Given the description of an element on the screen output the (x, y) to click on. 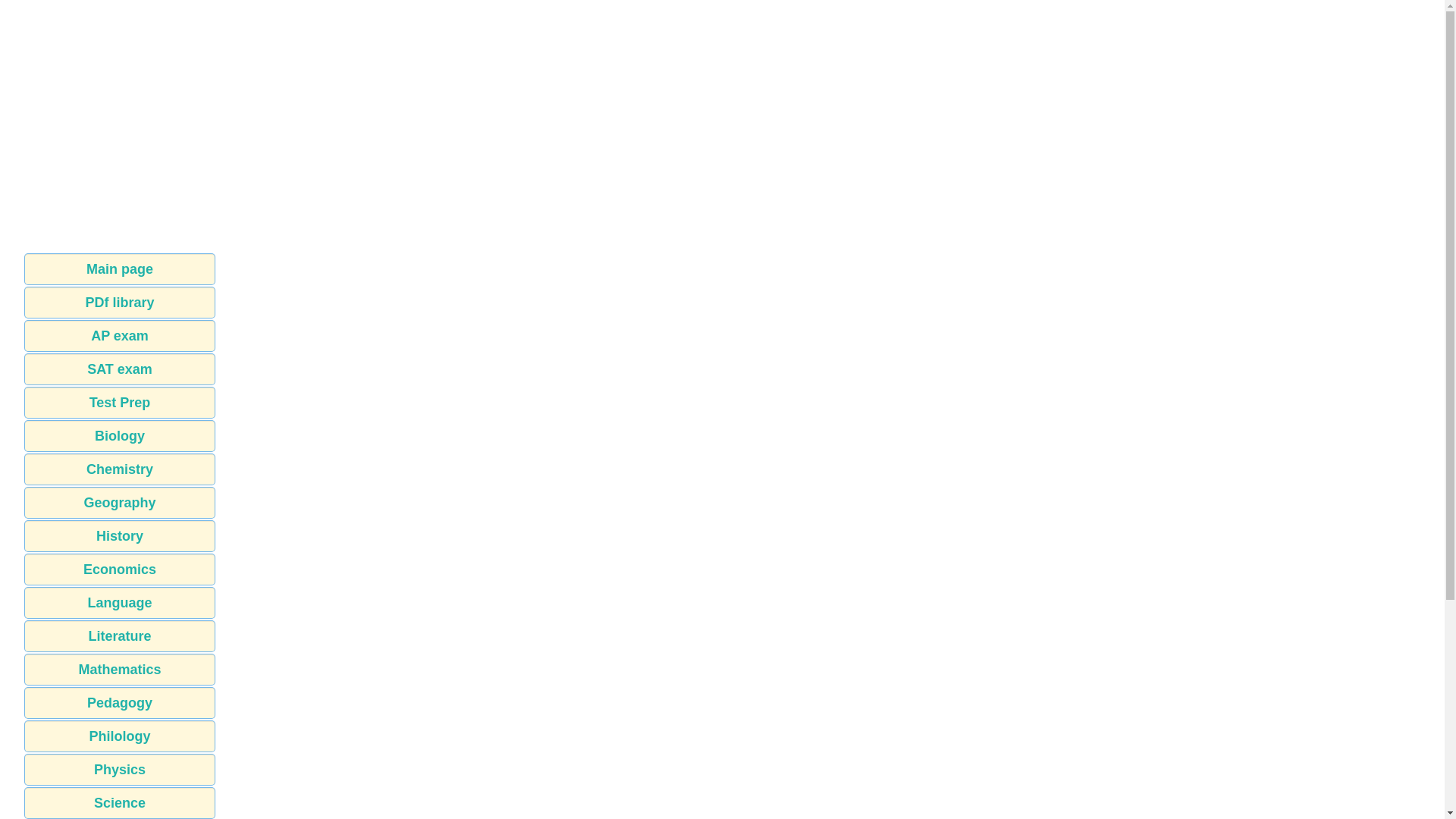
Pedagogy (119, 703)
Biology (119, 436)
Test Prep (119, 402)
Economics (119, 569)
SAT exam (119, 368)
Language (119, 603)
Physics (119, 769)
PDf library (119, 302)
Geography (119, 502)
Chemistry (119, 469)
Literature (119, 635)
History (119, 536)
AP exam (119, 336)
Science (119, 803)
Mathematics (119, 669)
